Given the description of an element on the screen output the (x, y) to click on. 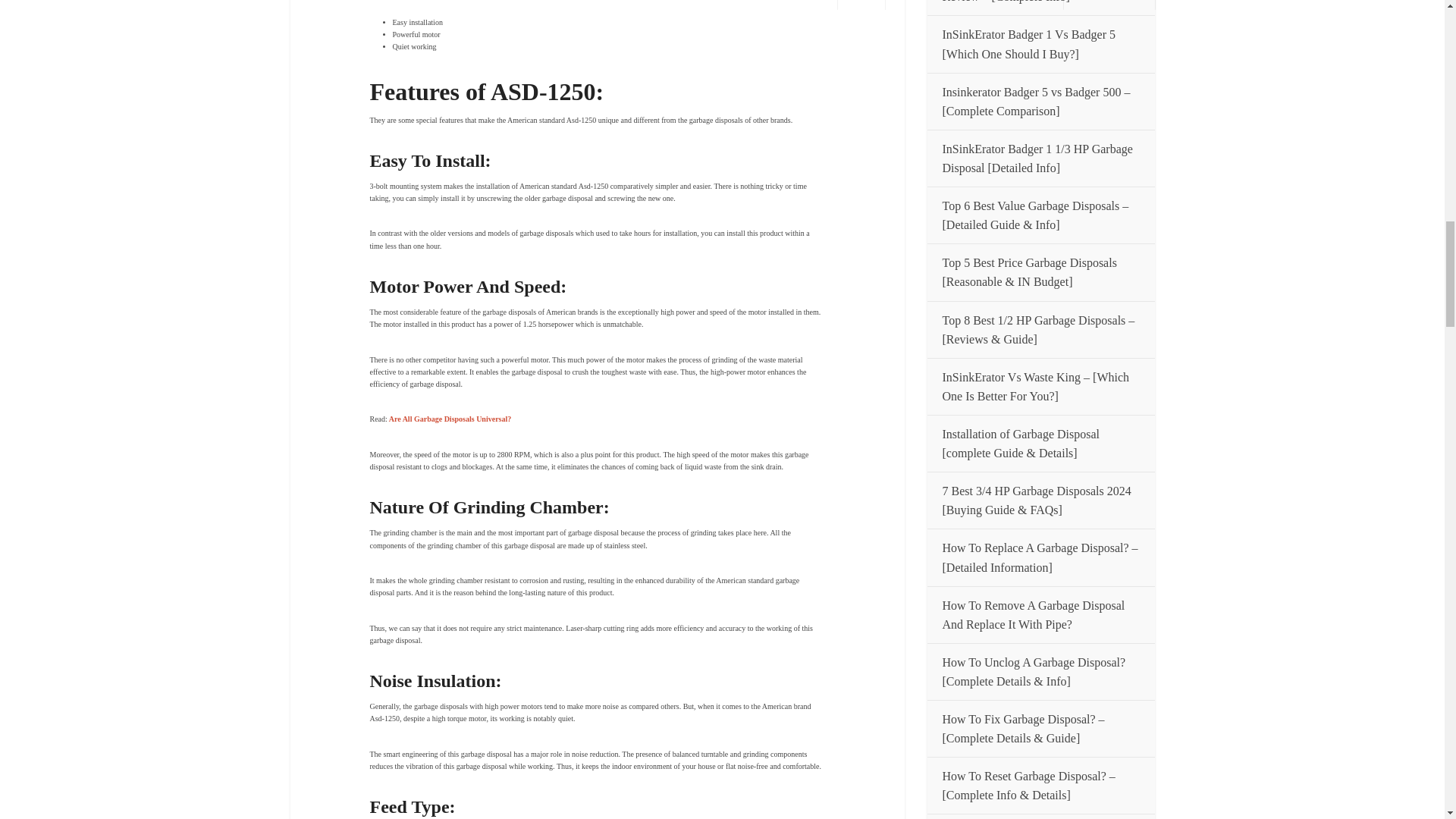
Are All Garbage Disposals Universal? (449, 418)
